Given the description of an element on the screen output the (x, y) to click on. 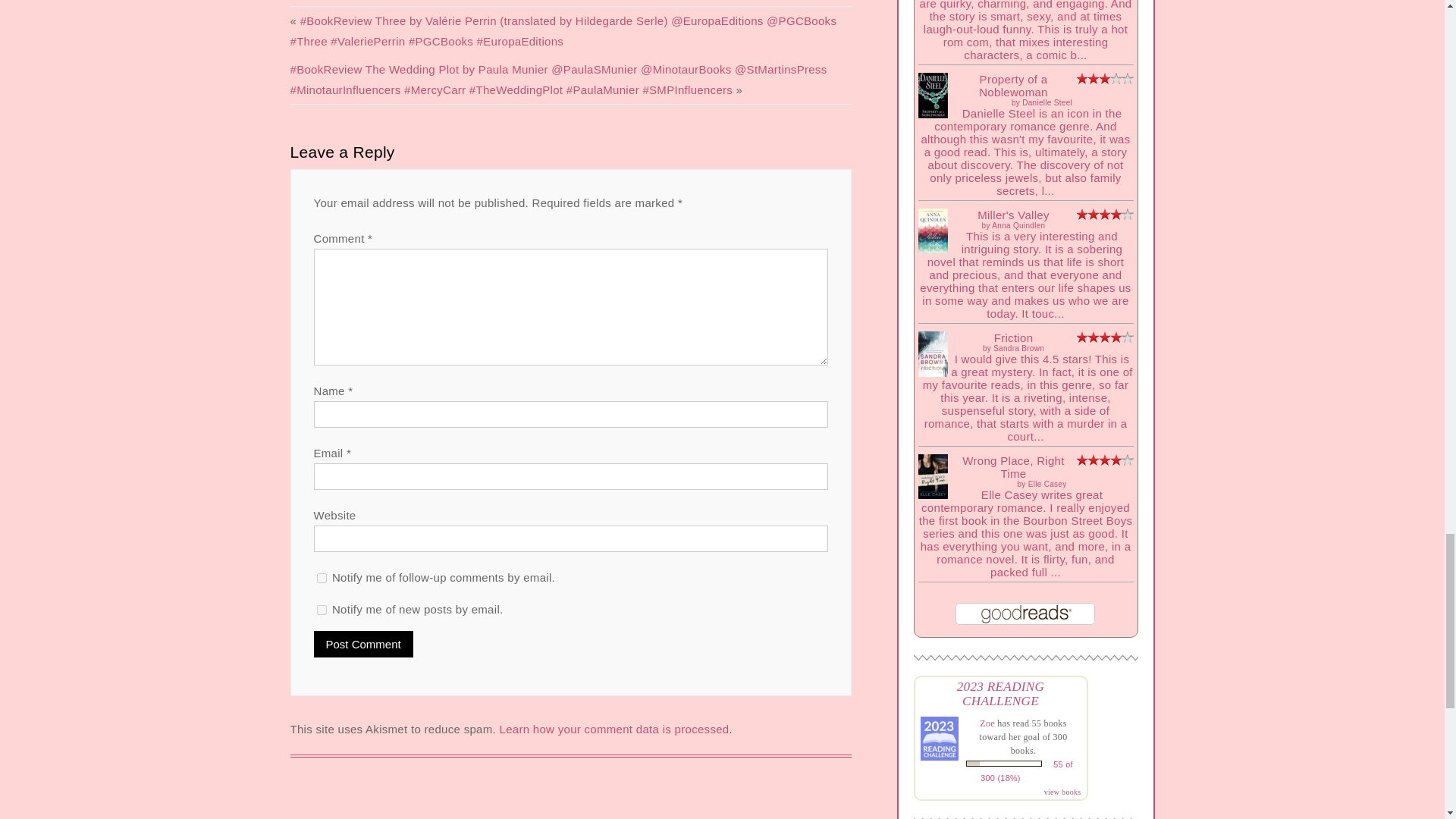
Friction (932, 372)
Property of a Noblewoman (932, 113)
Miller's Valley (932, 248)
subscribe (321, 610)
subscribe (321, 578)
Post Comment (363, 643)
